Given the description of an element on the screen output the (x, y) to click on. 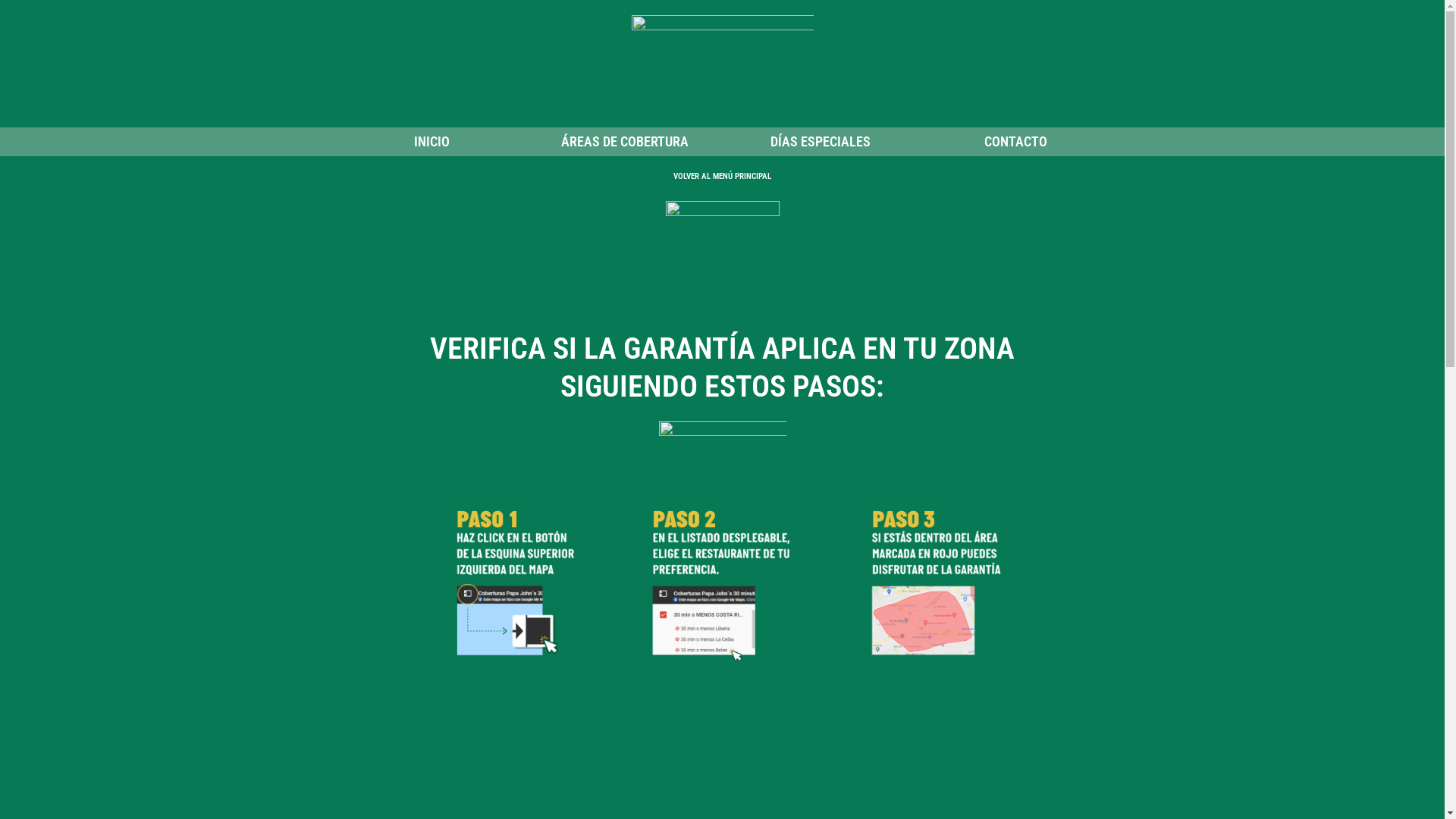
CONTACTO Element type: text (1015, 141)
INICIO Element type: text (428, 141)
